Given the description of an element on the screen output the (x, y) to click on. 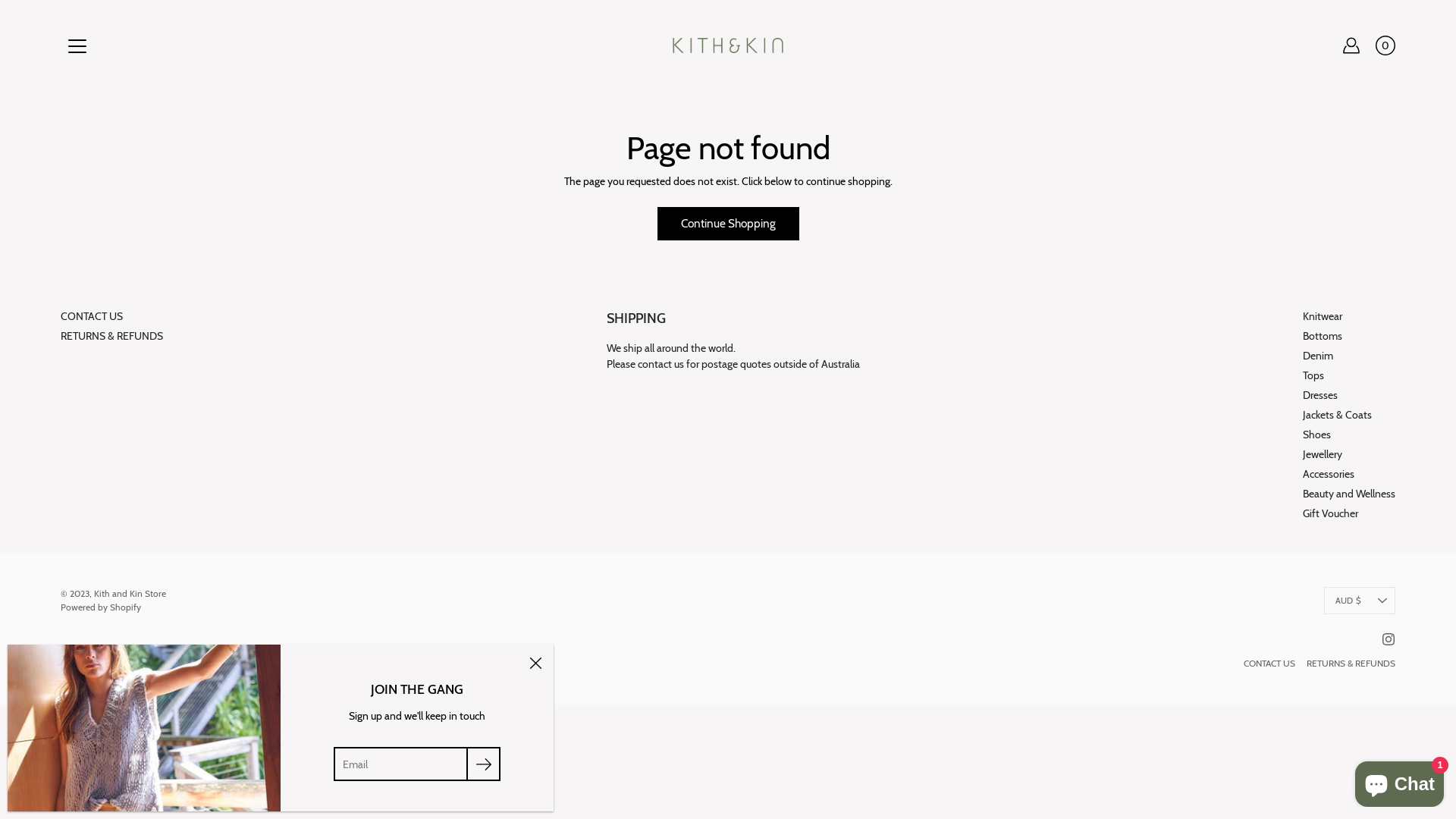
Continue Shopping Element type: text (727, 223)
Shoes Element type: text (1316, 434)
0 Element type: text (1384, 45)
Powered by Shopify Element type: text (100, 606)
AUD $ Element type: text (1359, 600)
Tops Element type: text (1313, 375)
CONTACT US Element type: text (91, 316)
Kith and Kin Store Element type: text (130, 593)
Denim Element type: text (1317, 355)
Gift Voucher Element type: text (1330, 513)
Bottoms Element type: text (1322, 335)
Shopify online store chat Element type: hover (1399, 780)
Knitwear Element type: text (1322, 316)
Beauty and Wellness Element type: text (1348, 493)
Jewellery Element type: text (1322, 454)
RETURNS & REFUNDS Element type: text (111, 335)
Jackets & Coats Element type: text (1336, 414)
Dresses Element type: text (1319, 394)
Instagram Element type: text (1388, 639)
Accessories Element type: text (1328, 473)
CONTACT US Element type: text (1269, 662)
RETURNS & REFUNDS Element type: text (1350, 662)
